Given the description of an element on the screen output the (x, y) to click on. 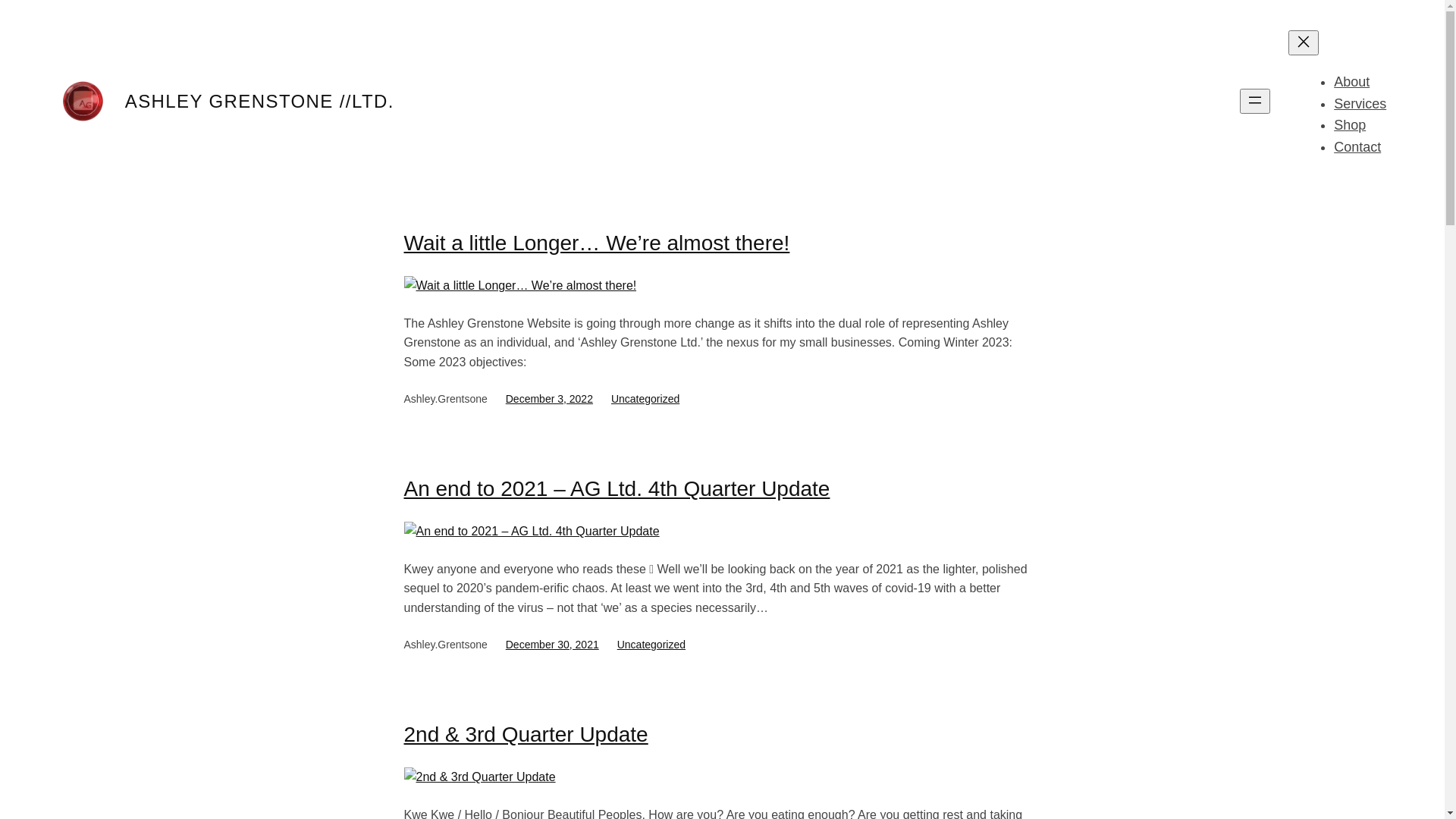
Services Element type: text (1359, 103)
Uncategorized Element type: text (651, 644)
Contact Element type: text (1356, 146)
ASHLEY GRENSTONE //LTD. Element type: text (259, 101)
December 30, 2021 Element type: text (552, 644)
Uncategorized Element type: text (645, 398)
December 3, 2022 Element type: text (549, 398)
Shop Element type: text (1349, 124)
2nd & 3rd Quarter Update Element type: text (525, 734)
About Element type: text (1351, 81)
